Given the description of an element on the screen output the (x, y) to click on. 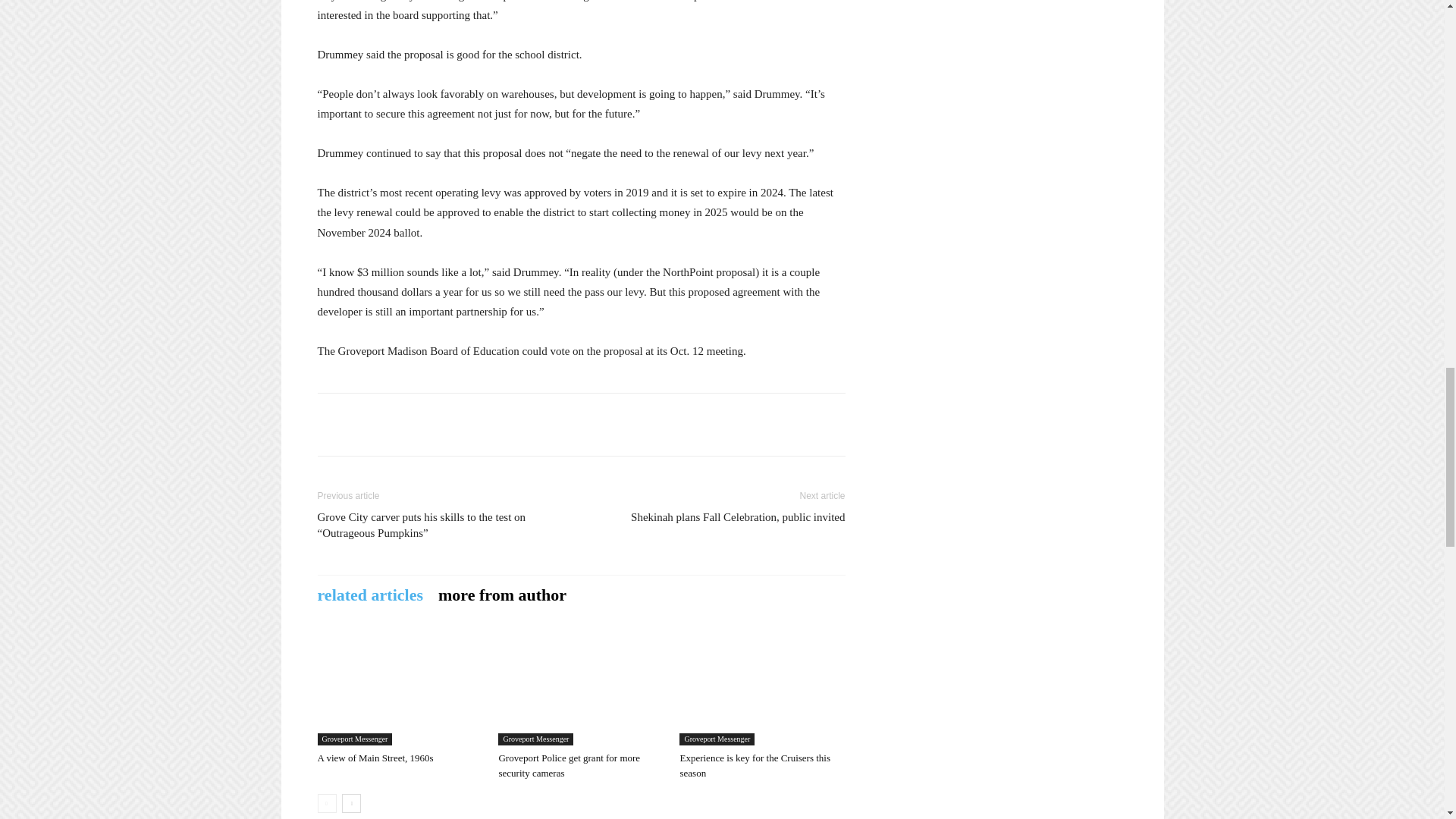
Groveport Police get grant for more security cameras (580, 688)
A view of Main Street, 1960s (374, 757)
A view of Main Street, 1960s (399, 688)
